Given the description of an element on the screen output the (x, y) to click on. 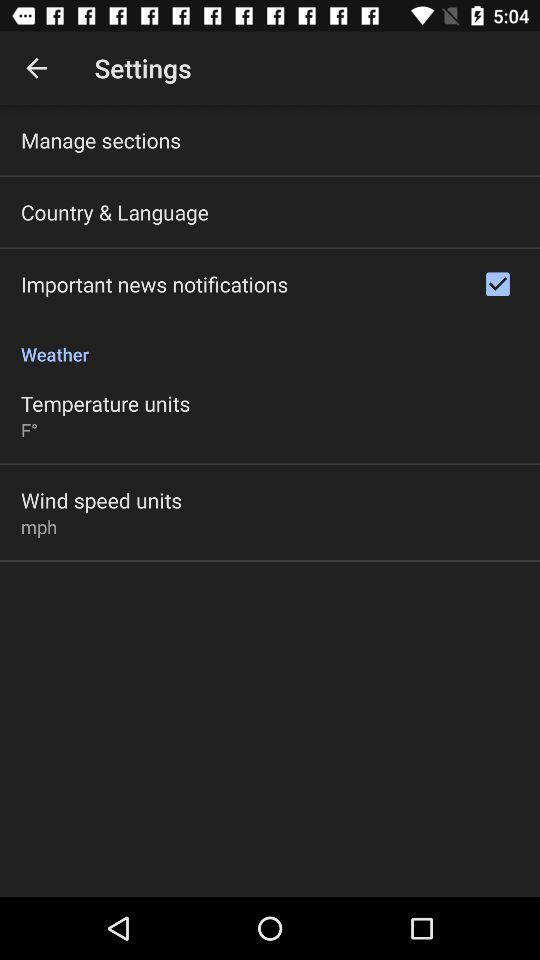
open item below country & language icon (154, 284)
